Given the description of an element on the screen output the (x, y) to click on. 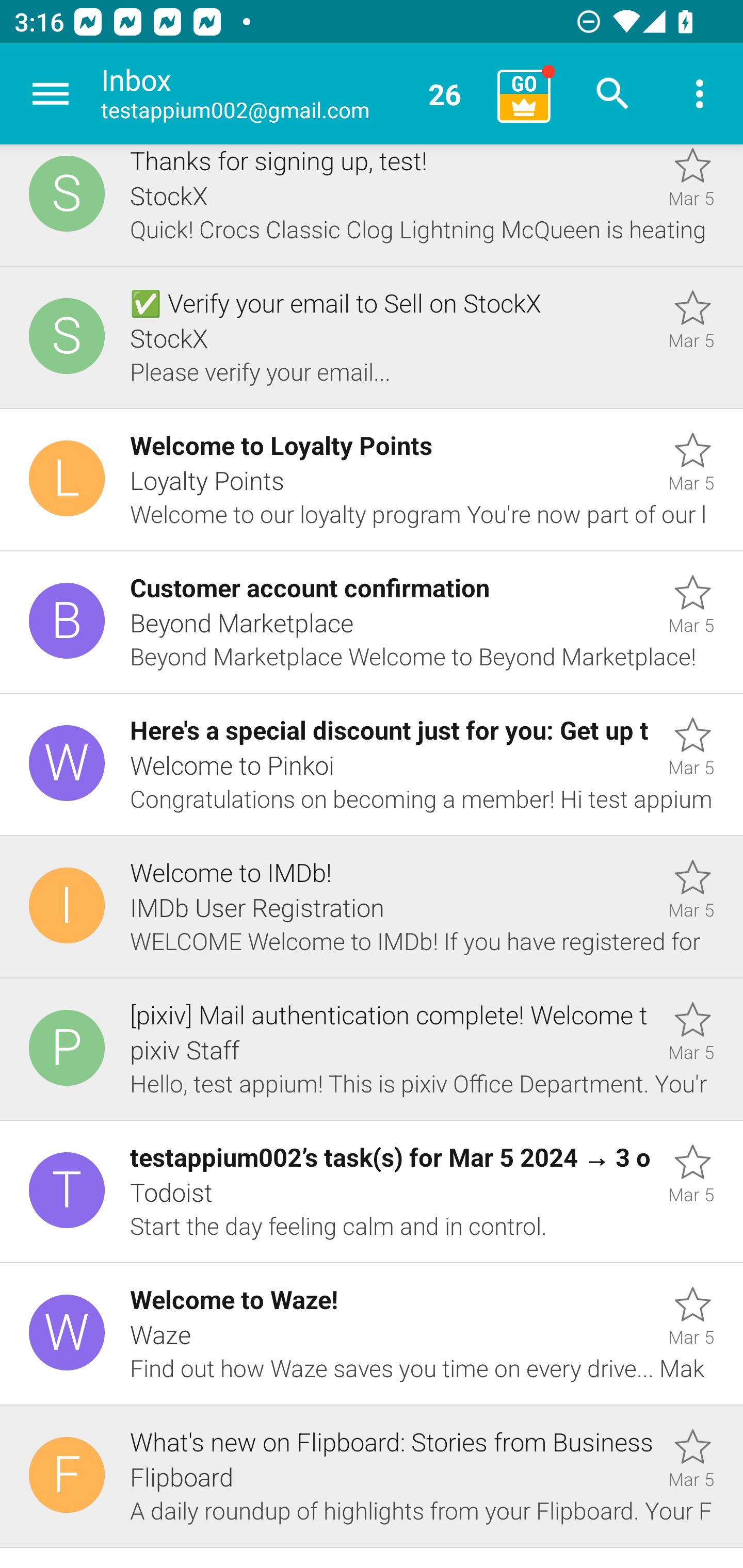
Navigate up (50, 93)
Inbox testappium002@gmail.com 26 (291, 93)
Search (612, 93)
More options (699, 93)
